Given the description of an element on the screen output the (x, y) to click on. 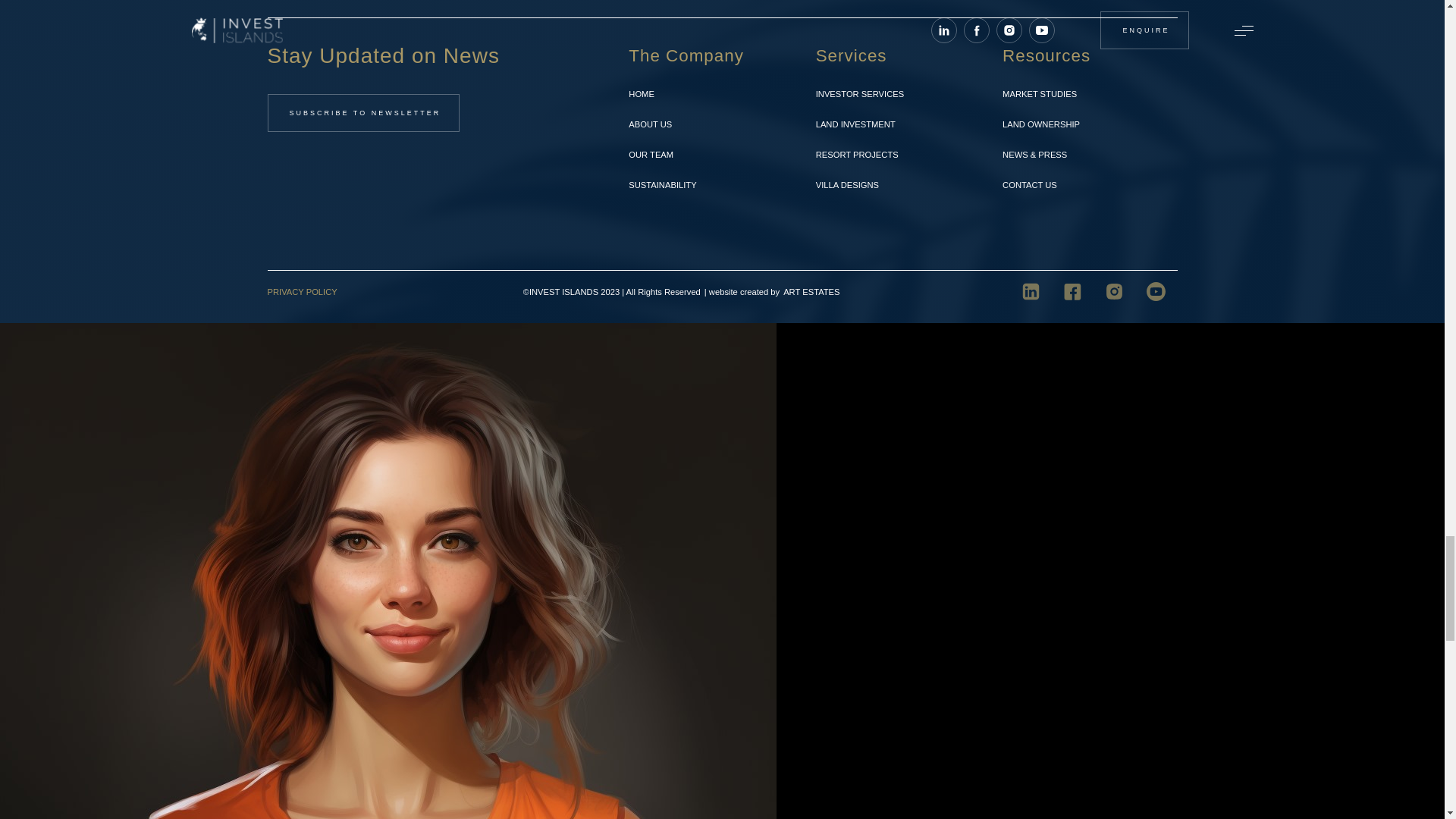
SUBSCRIBE TO NEWSLETTER (363, 112)
